Given the description of an element on the screen output the (x, y) to click on. 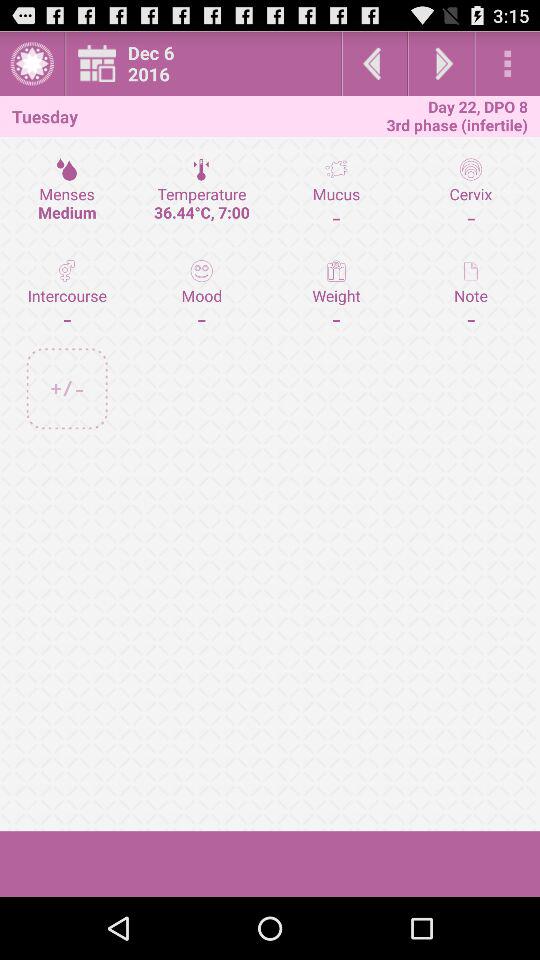
swipe until cervix
_ (470, 193)
